Given the description of an element on the screen output the (x, y) to click on. 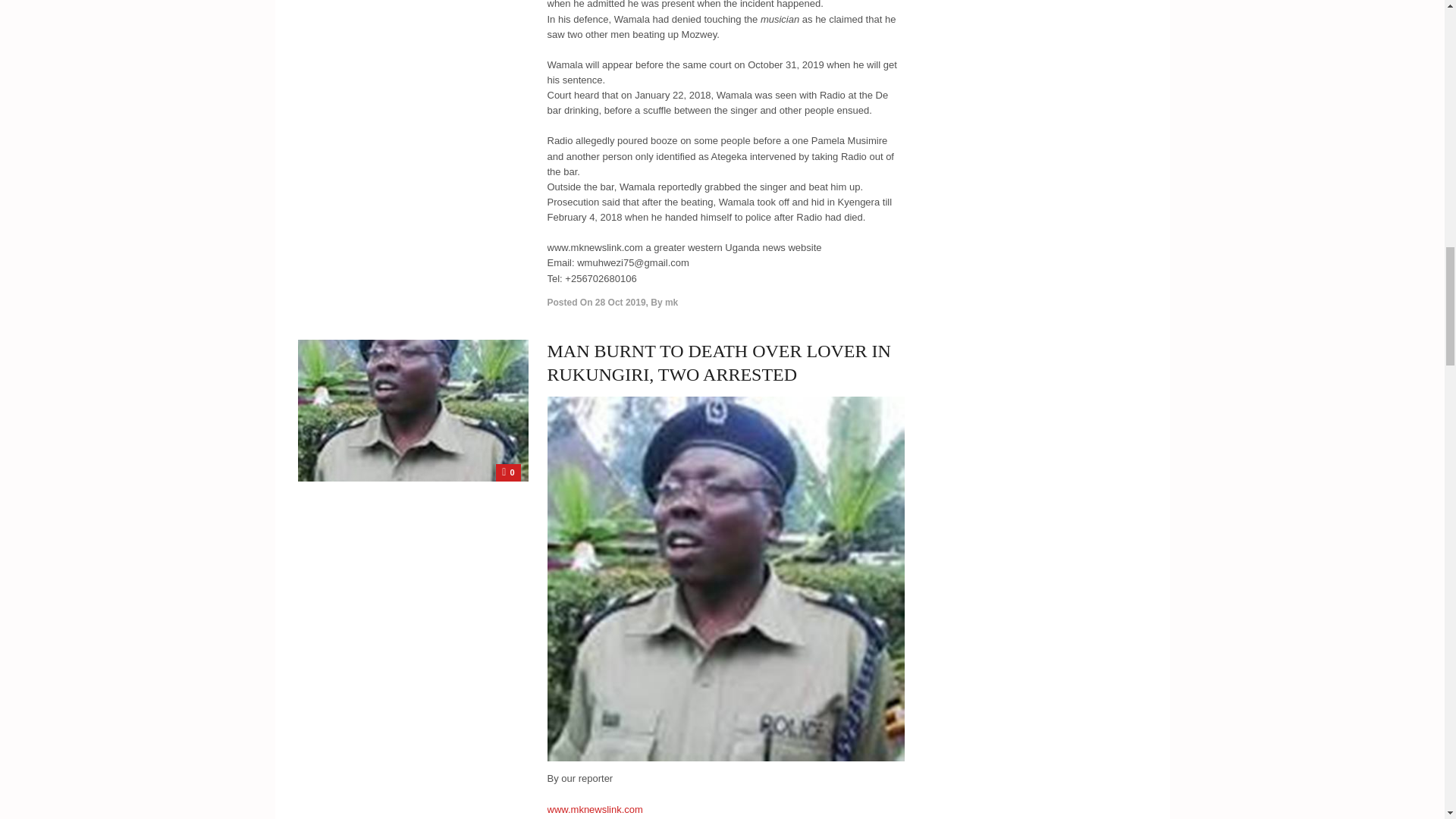
mk (671, 302)
Posts by mk (671, 302)
MAN BURNT TO DEATH OVER LOVER IN RUKUNGIRI, TWO ARRESTED (719, 362)
28 Oct 2019 (620, 302)
